Given the description of an element on the screen output the (x, y) to click on. 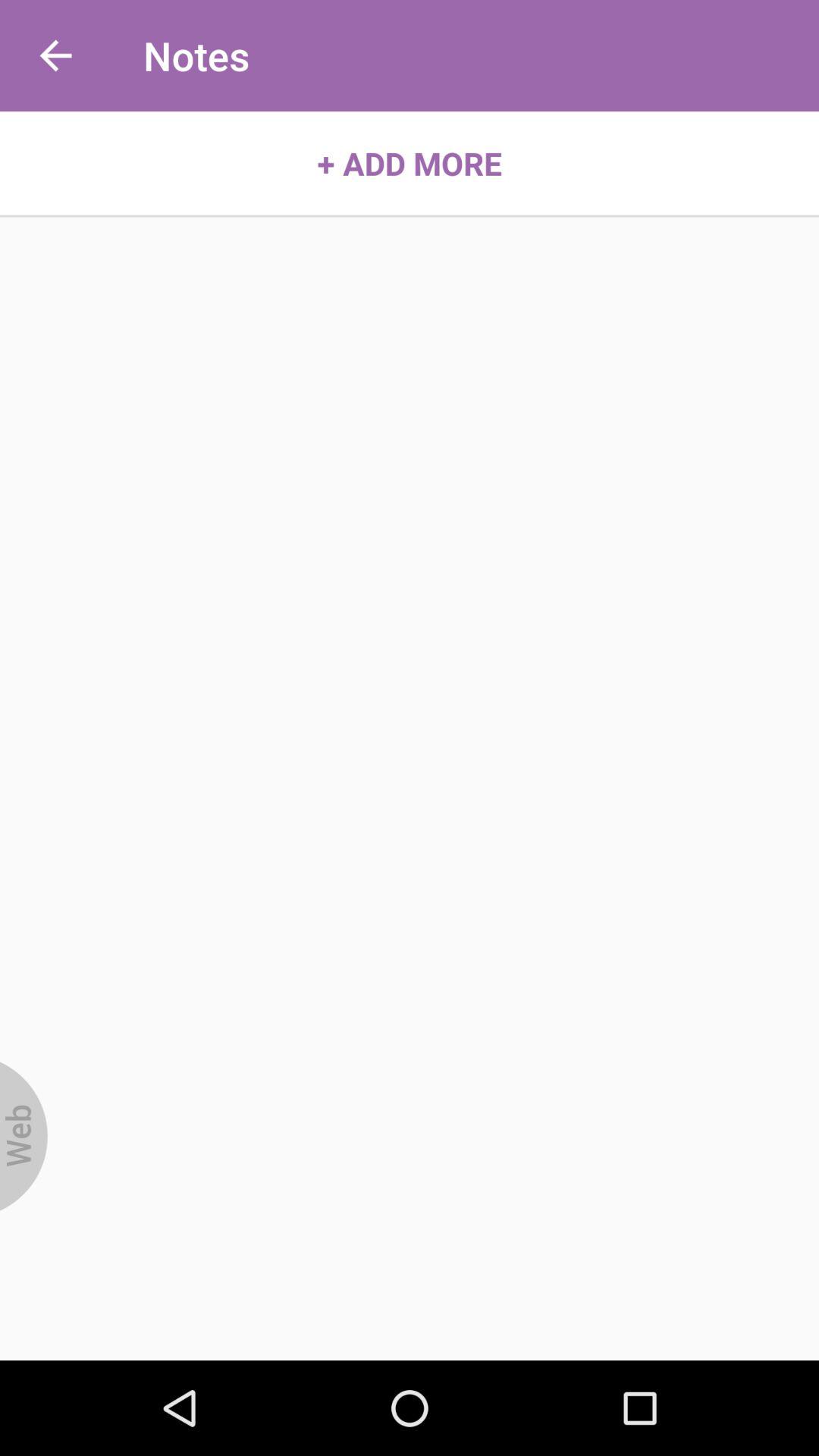
turn on the item next to notes (55, 55)
